Given the description of an element on the screen output the (x, y) to click on. 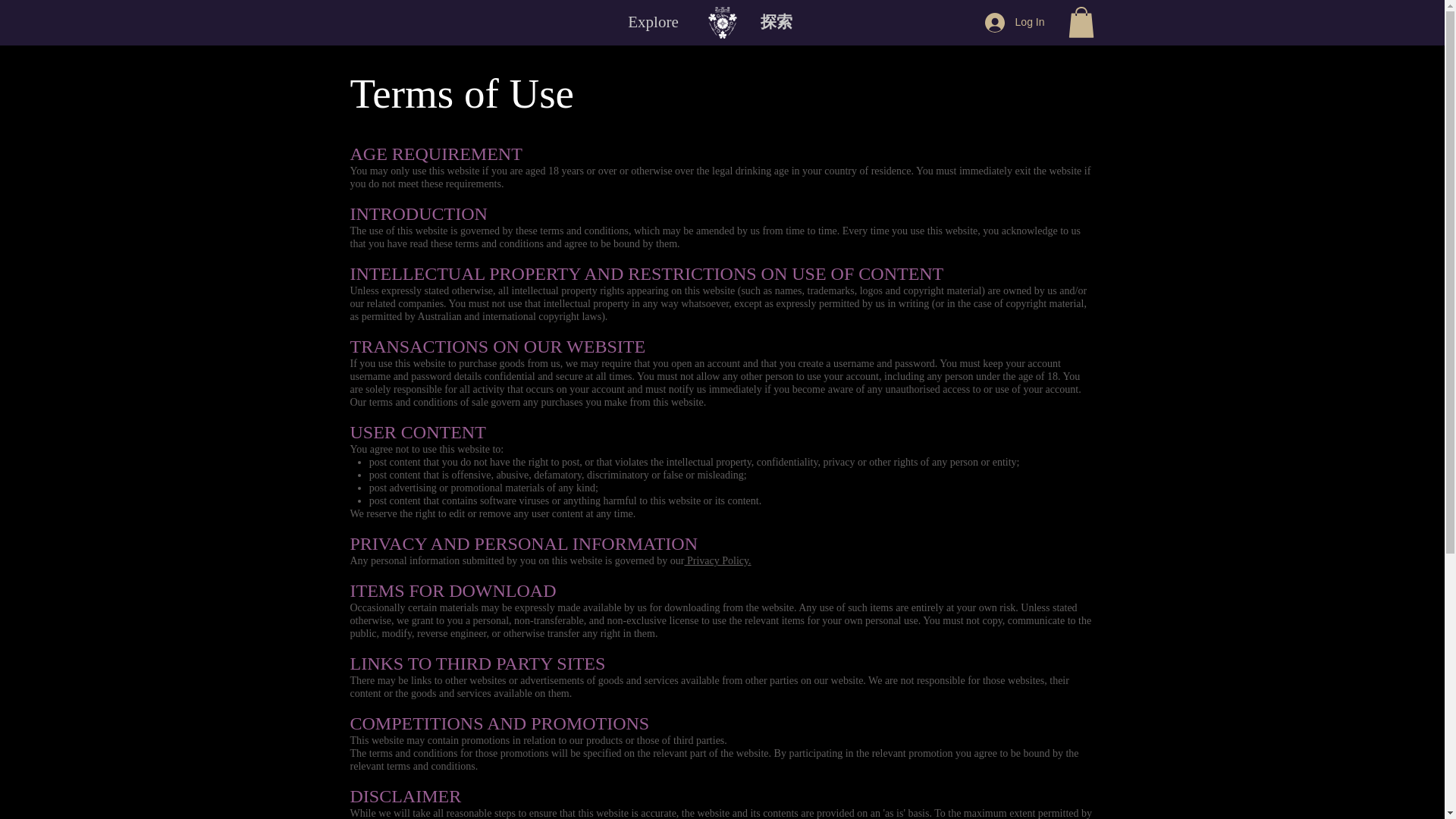
Explore (652, 22)
 Privacy Policy. (717, 560)
Log In (1014, 22)
